Given the description of an element on the screen output the (x, y) to click on. 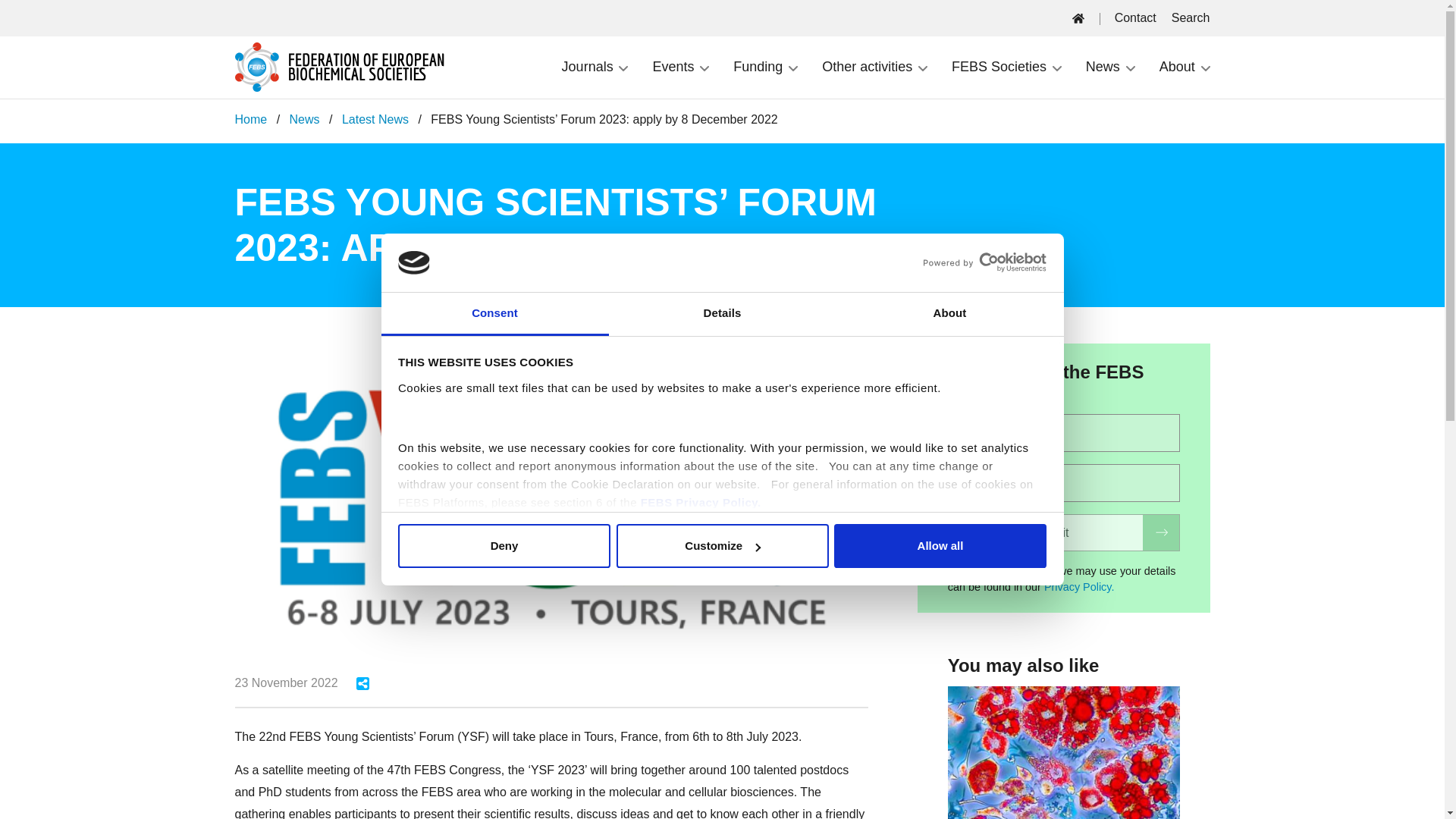
Details (721, 313)
Submit (1063, 532)
Search (1190, 17)
Allow all (940, 546)
Deny (503, 546)
Journals (595, 66)
Consent (494, 313)
FEBS Privacy Policy.  (702, 502)
Customize (721, 546)
About (948, 313)
